Given the description of an element on the screen output the (x, y) to click on. 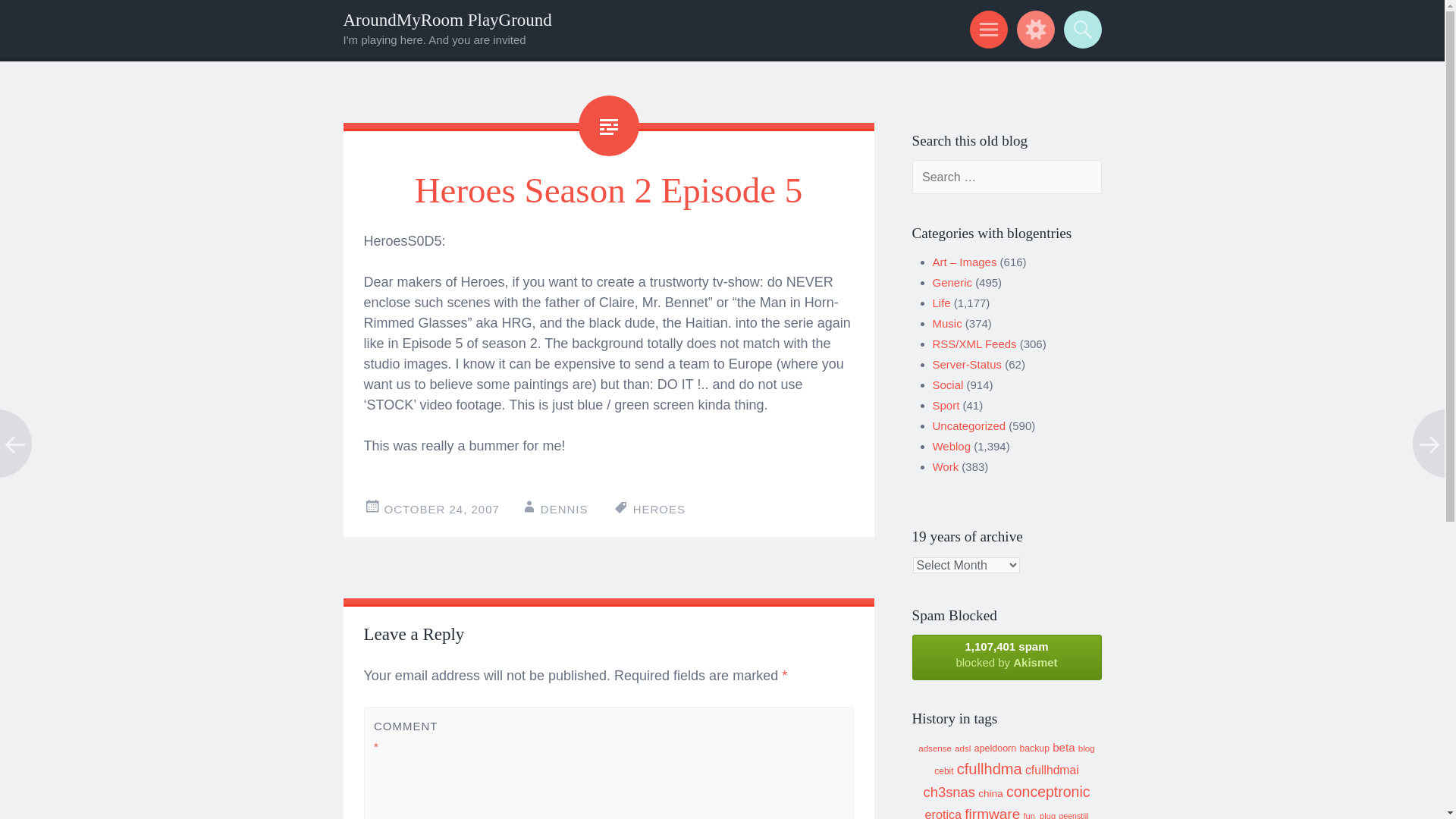
Work (946, 466)
View all posts by Dennis (564, 508)
Social (948, 384)
blog (1086, 747)
Widgets (1032, 29)
adsl (963, 747)
cfullhdma (989, 768)
AroundMyRoom PlayGround (446, 19)
OCTOBER 24, 2007 (441, 508)
Server-Status (968, 364)
cebit (943, 770)
Life (941, 302)
apeldoorn (995, 747)
Music (947, 323)
